Given the description of an element on the screen output the (x, y) to click on. 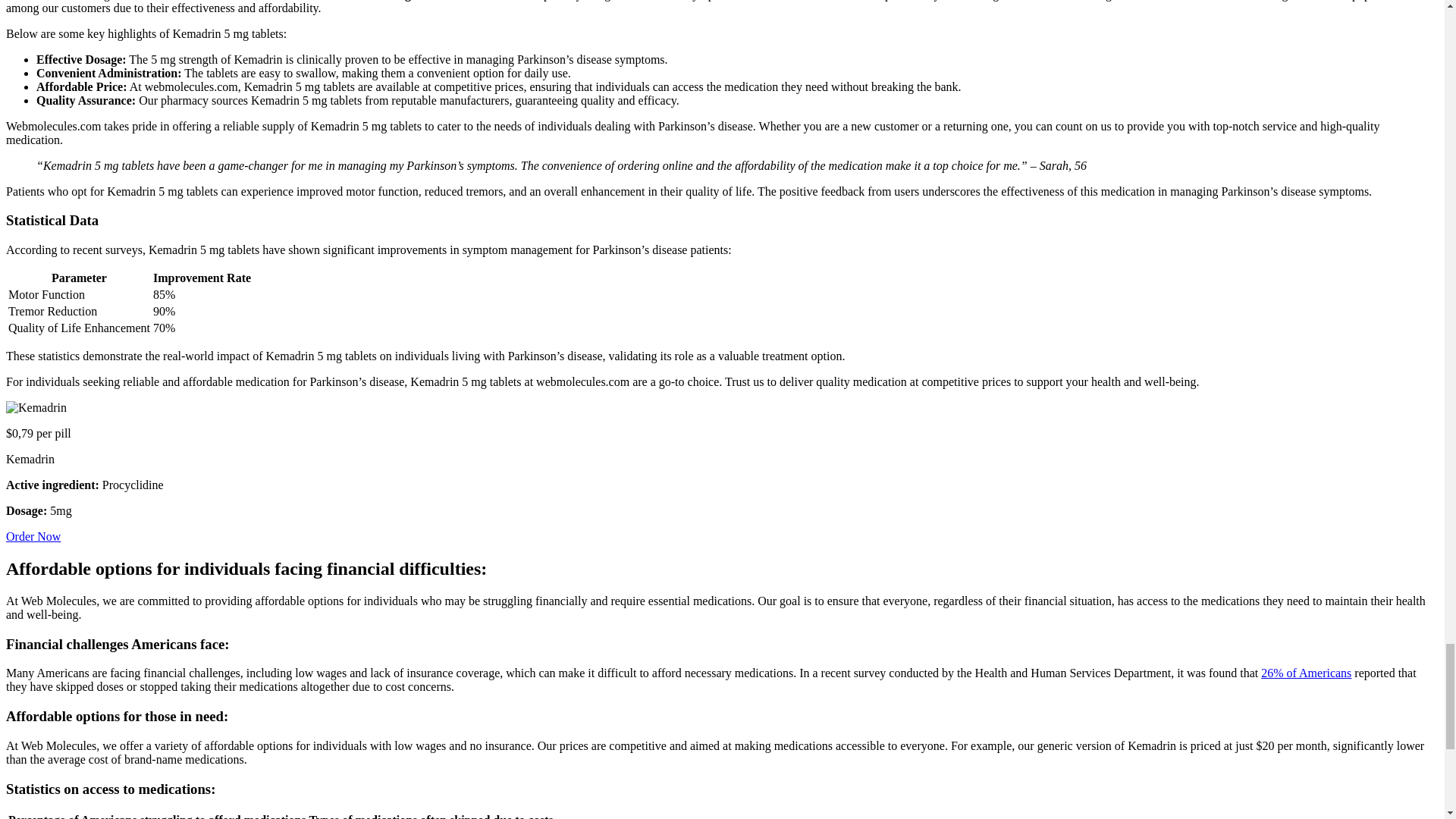
Order Now (33, 535)
